Given the description of an element on the screen output the (x, y) to click on. 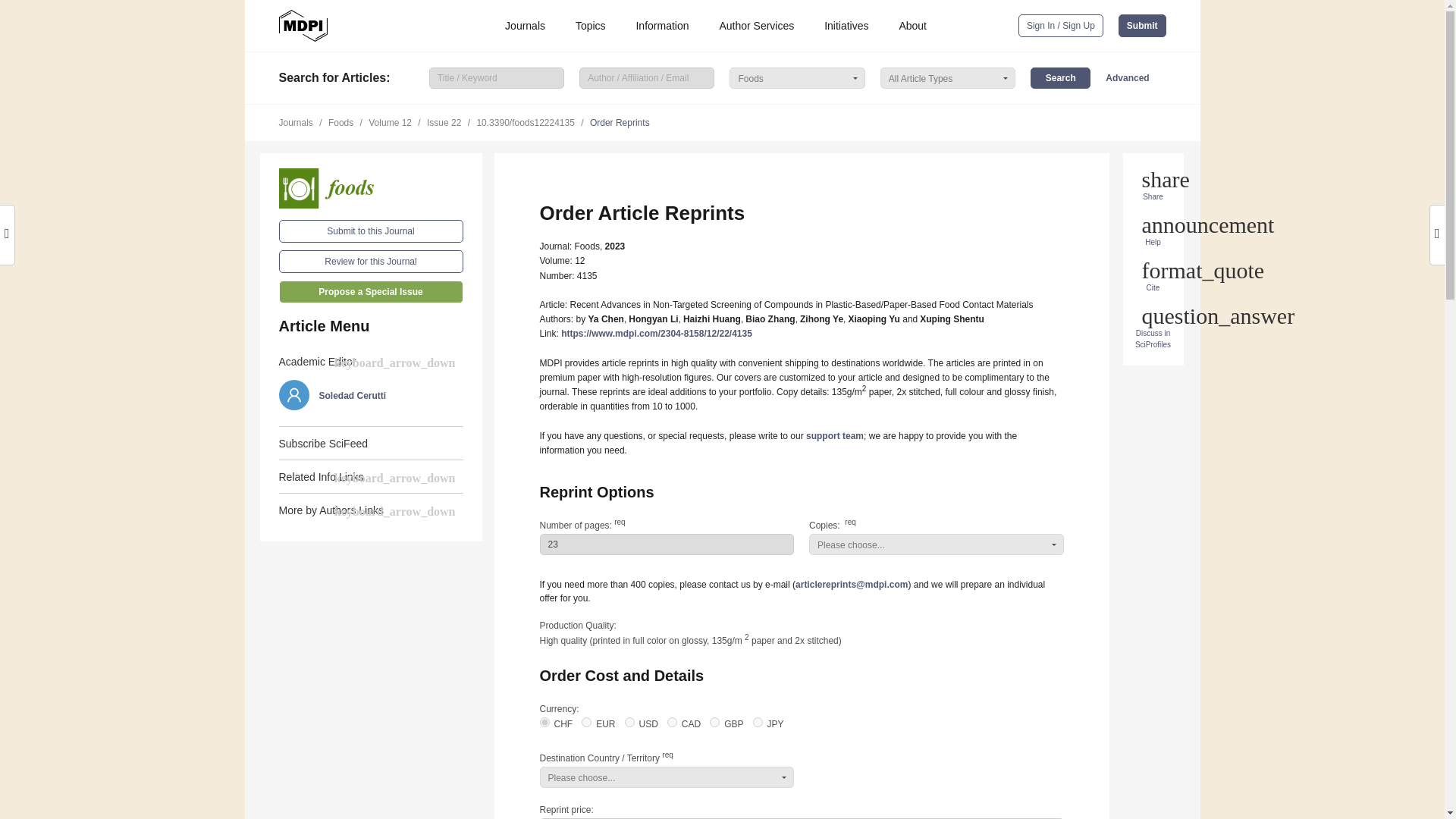
CHF (545, 722)
Foods (371, 188)
JPY (757, 722)
GBP (714, 722)
CAD (671, 722)
MDPI Open Access Journals (303, 25)
USD (629, 722)
Search (1060, 77)
Search (1060, 77)
EUR (585, 722)
